Given the description of an element on the screen output the (x, y) to click on. 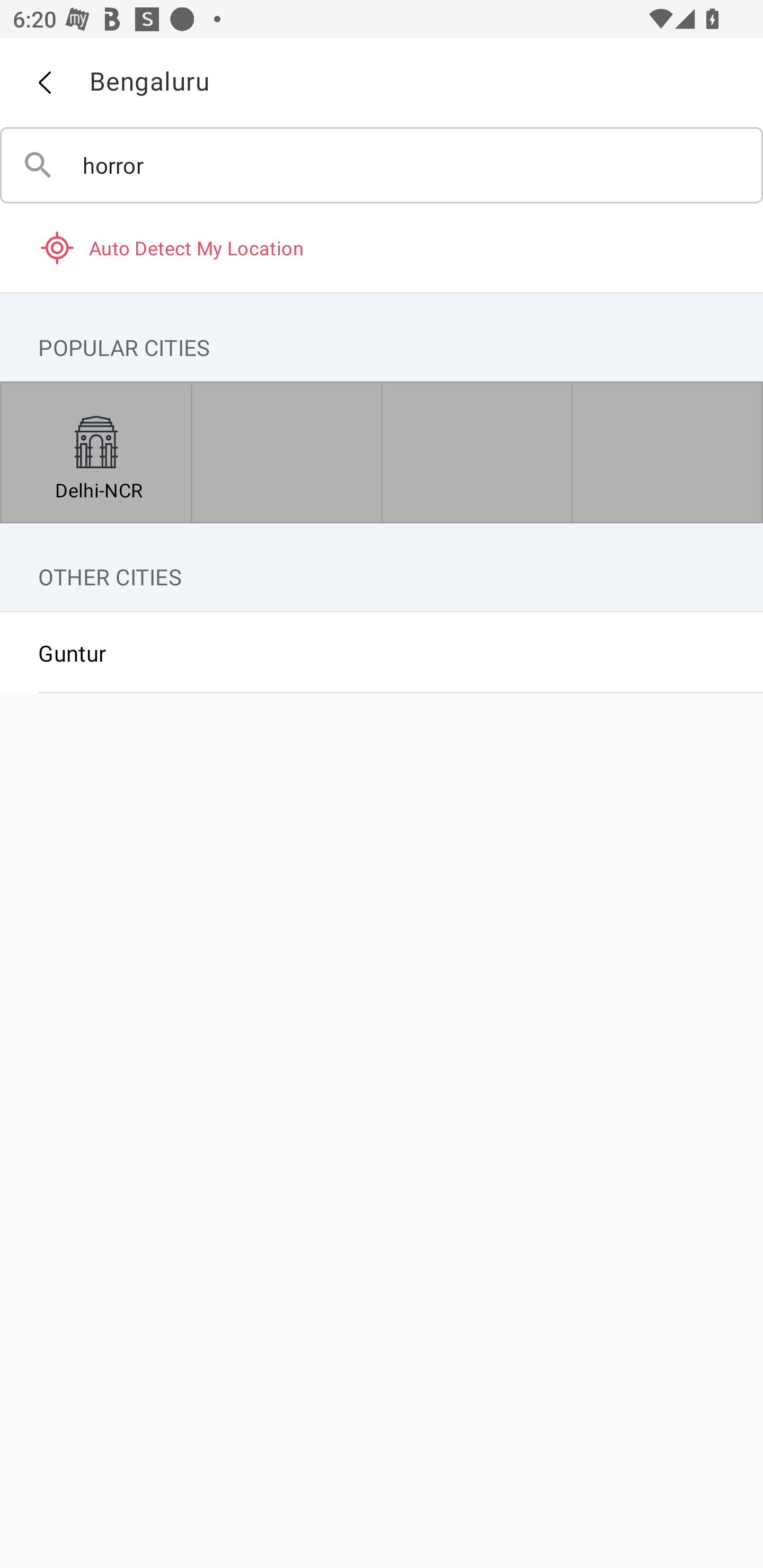
Back (44, 82)
horror (381, 165)
Auto Detect My Location (381, 247)
Delhi-NCR (95, 452)
Guntur (381, 653)
